Given the description of an element on the screen output the (x, y) to click on. 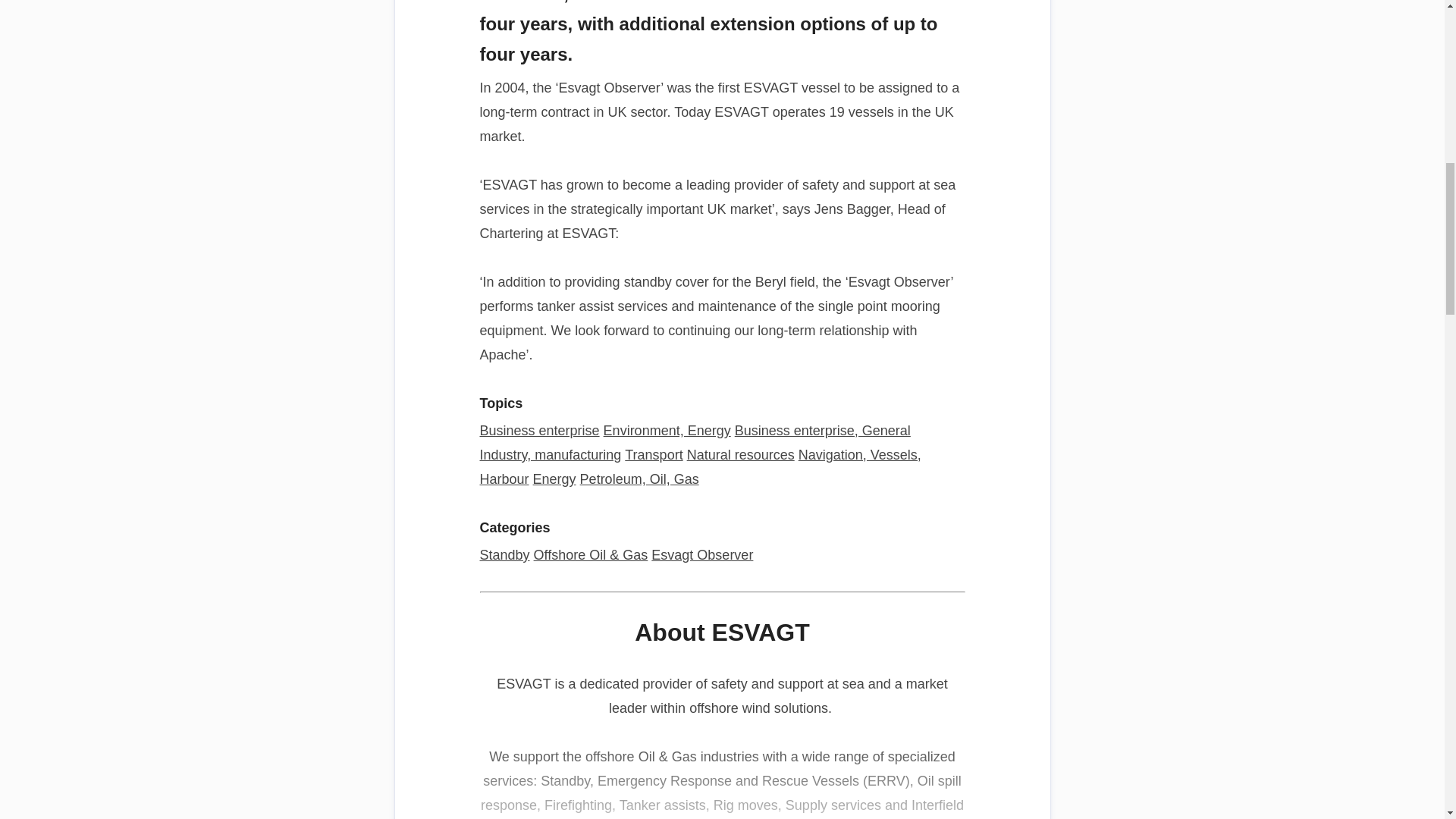
Petroleum, Oil, Gas (638, 478)
Transport (653, 454)
Natural resources (740, 454)
Navigation, Vessels, Harbour (699, 466)
Standby (504, 554)
Business enterprise (538, 430)
Esvagt Observer (701, 554)
Business enterprise, General (823, 430)
Environment, Energy (667, 430)
Industry, manufacturing (550, 454)
